Given the description of an element on the screen output the (x, y) to click on. 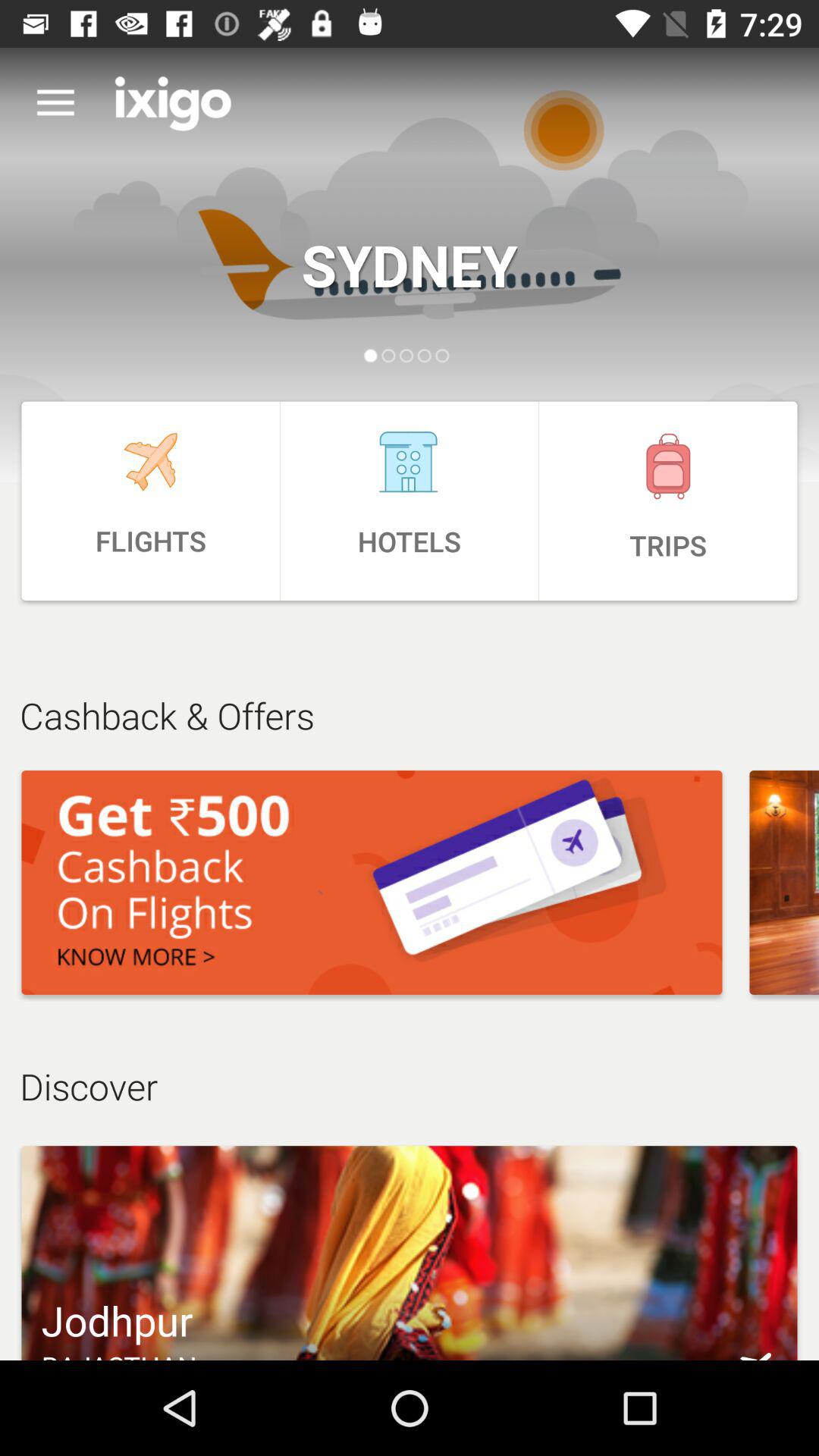
scroll until the hotels (409, 500)
